Given the description of an element on the screen output the (x, y) to click on. 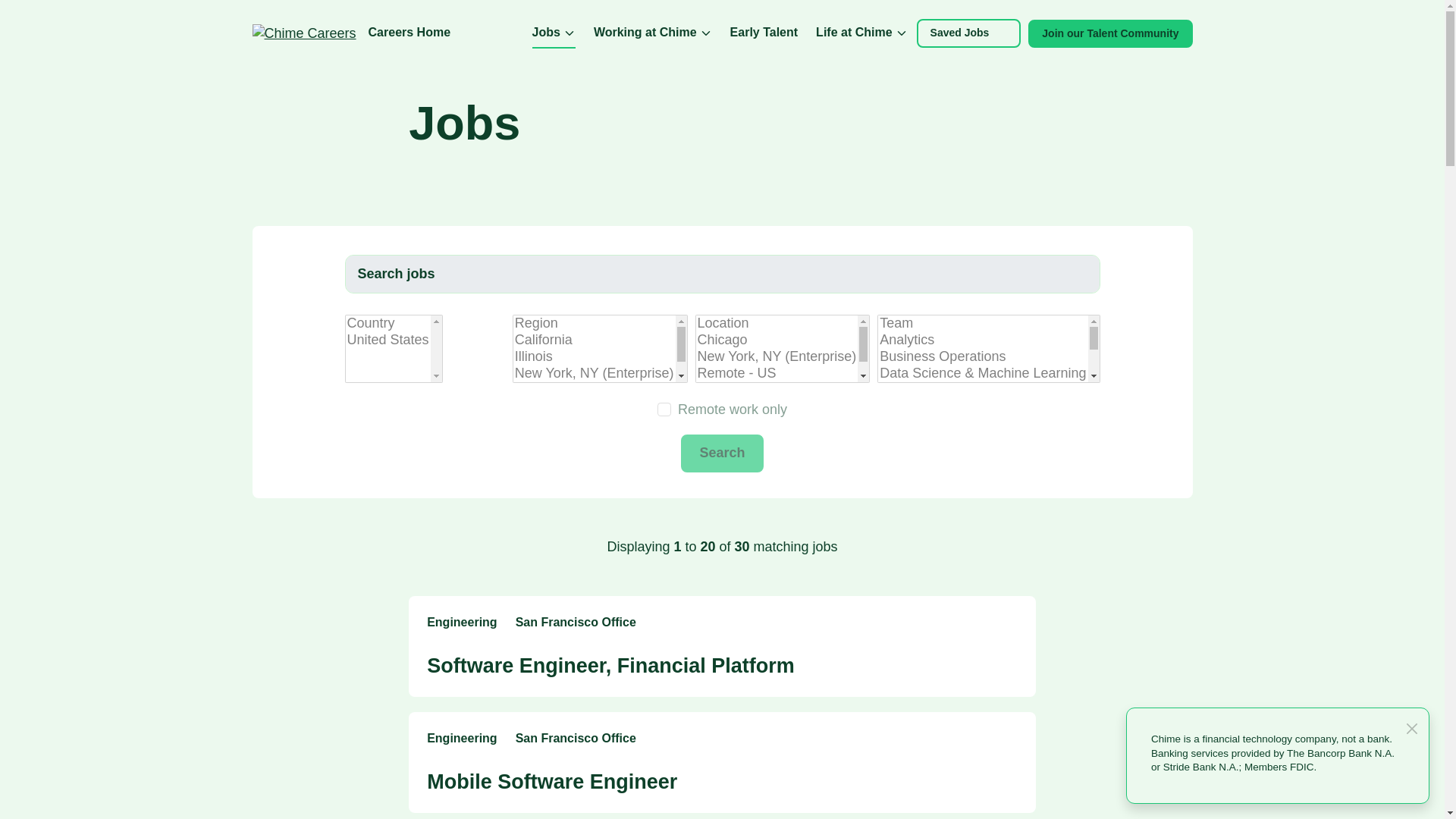
Search (721, 453)
Software Engineer, Financial Platform (610, 665)
Save (1009, 739)
Save (1009, 623)
Save (1009, 739)
Join our Talent Community (1109, 33)
Jobs (553, 33)
Saved Jobs (969, 32)
Careers Home (409, 33)
true (664, 409)
